Given the description of an element on the screen output the (x, y) to click on. 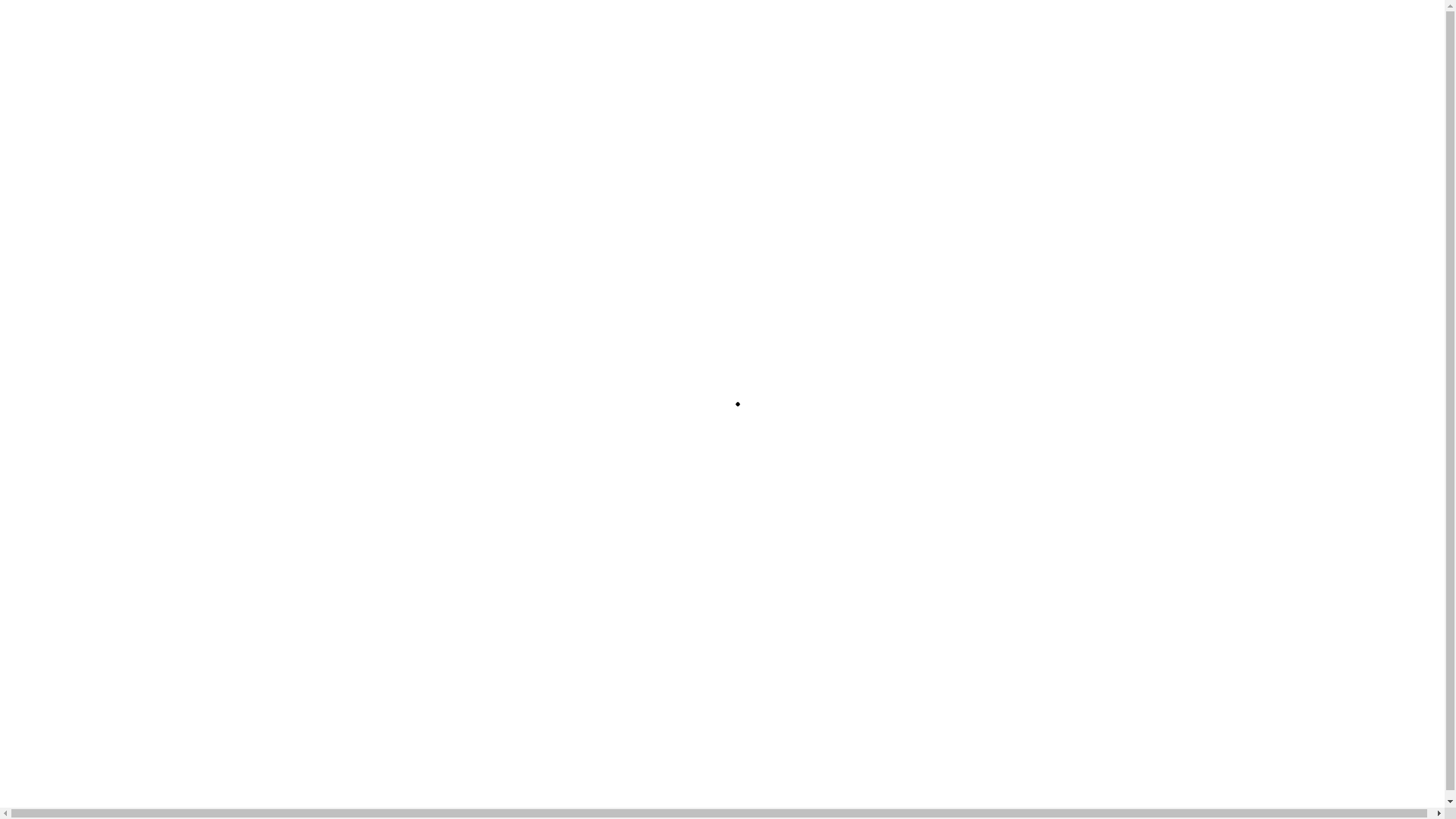
Skip to main content Element type: text (56, 12)
FAQ Element type: text (245, 371)
Support Element type: text (355, 371)
